Given the description of an element on the screen output the (x, y) to click on. 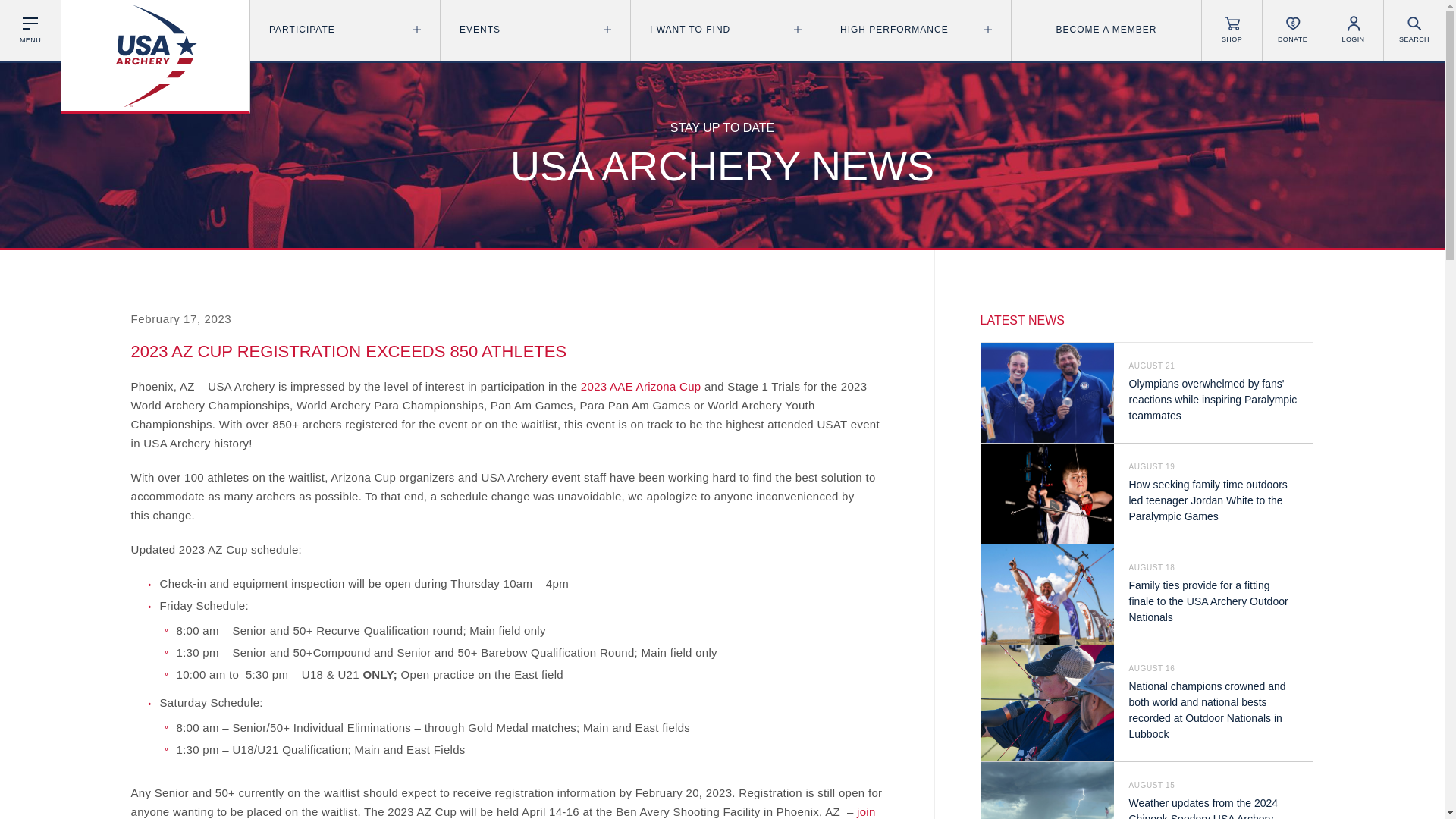
I WANT TO FIND (725, 29)
BECOME A MEMBER (1106, 29)
EVENTS (535, 29)
PARTICIPATE (344, 29)
DONATE (1292, 30)
SHOP (1232, 30)
LOGIN (1353, 30)
HIGH PERFORMANCE (915, 29)
